Given the description of an element on the screen output the (x, y) to click on. 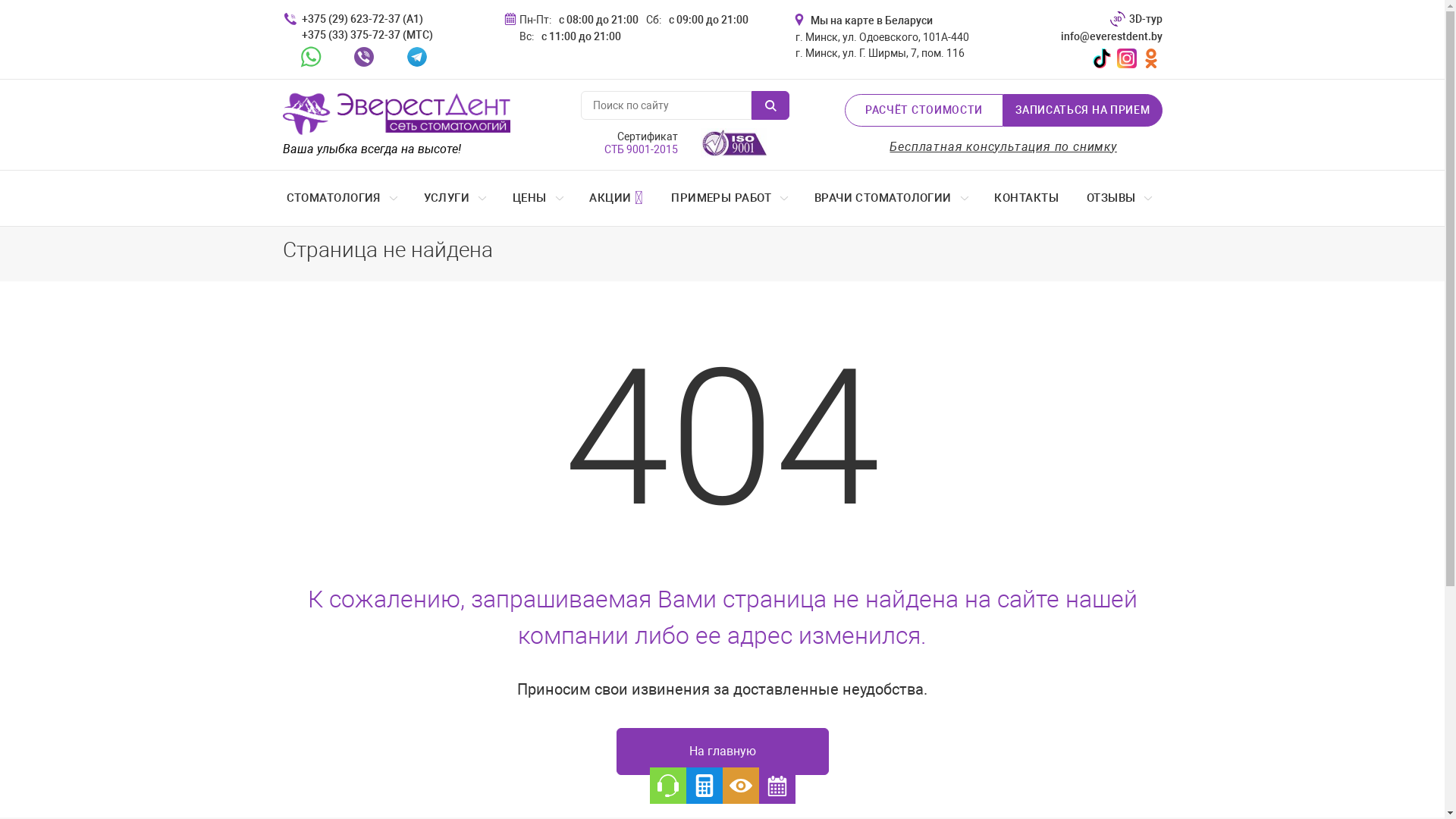
info@everestdent.by Element type: text (1101, 36)
Instagram Element type: text (1126, 57)
Whatsapp Element type: text (310, 56)
Viber Element type: text (363, 56)
TikTok Element type: text (1101, 57)
Telegram Element type: text (416, 56)
+375 (29) 623-72-37 (A1) Element type: text (365, 19)
